Given the description of an element on the screen output the (x, y) to click on. 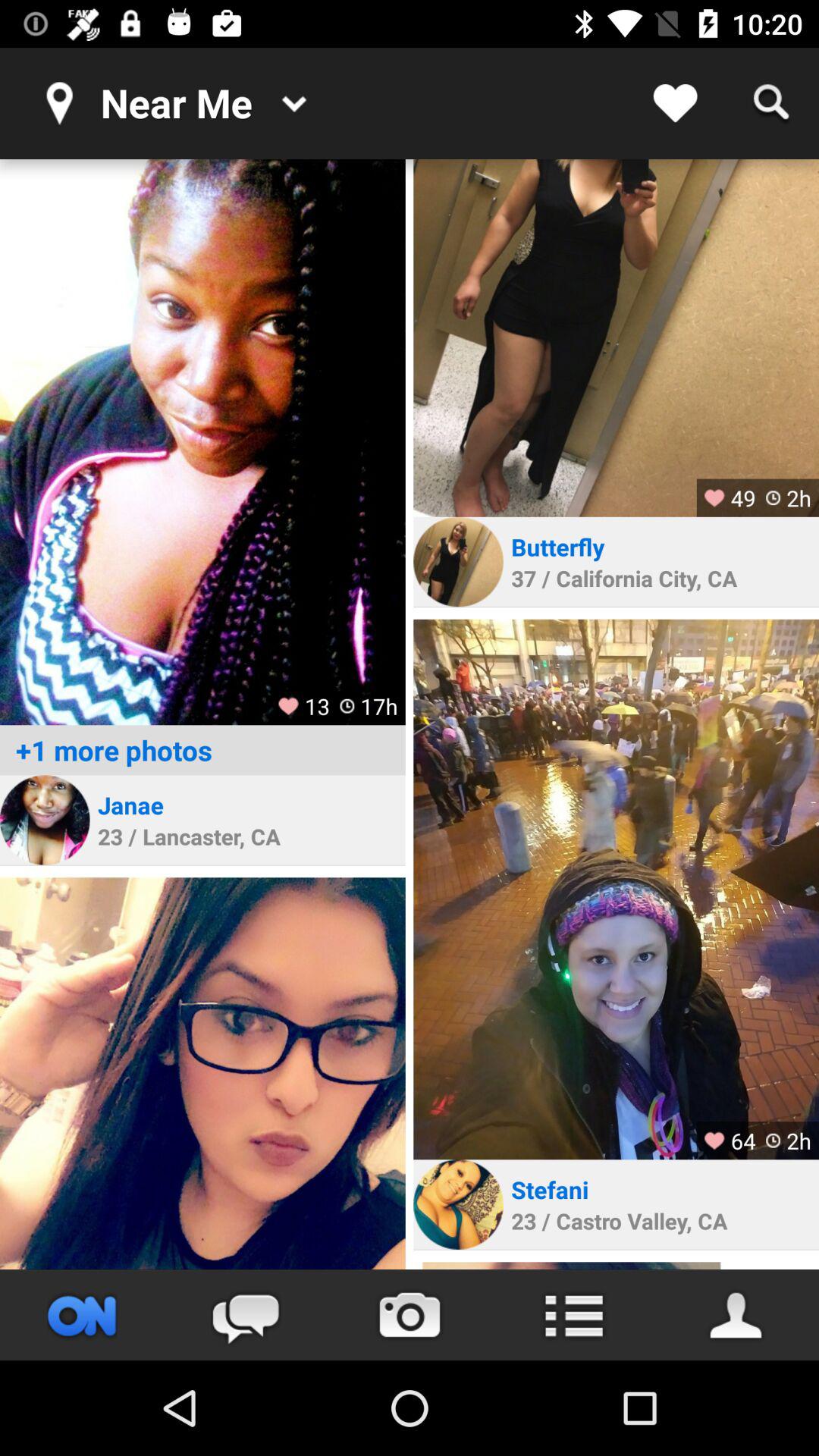
turn off the icon above the 37 california city (560, 546)
